Given the description of an element on the screen output the (x, y) to click on. 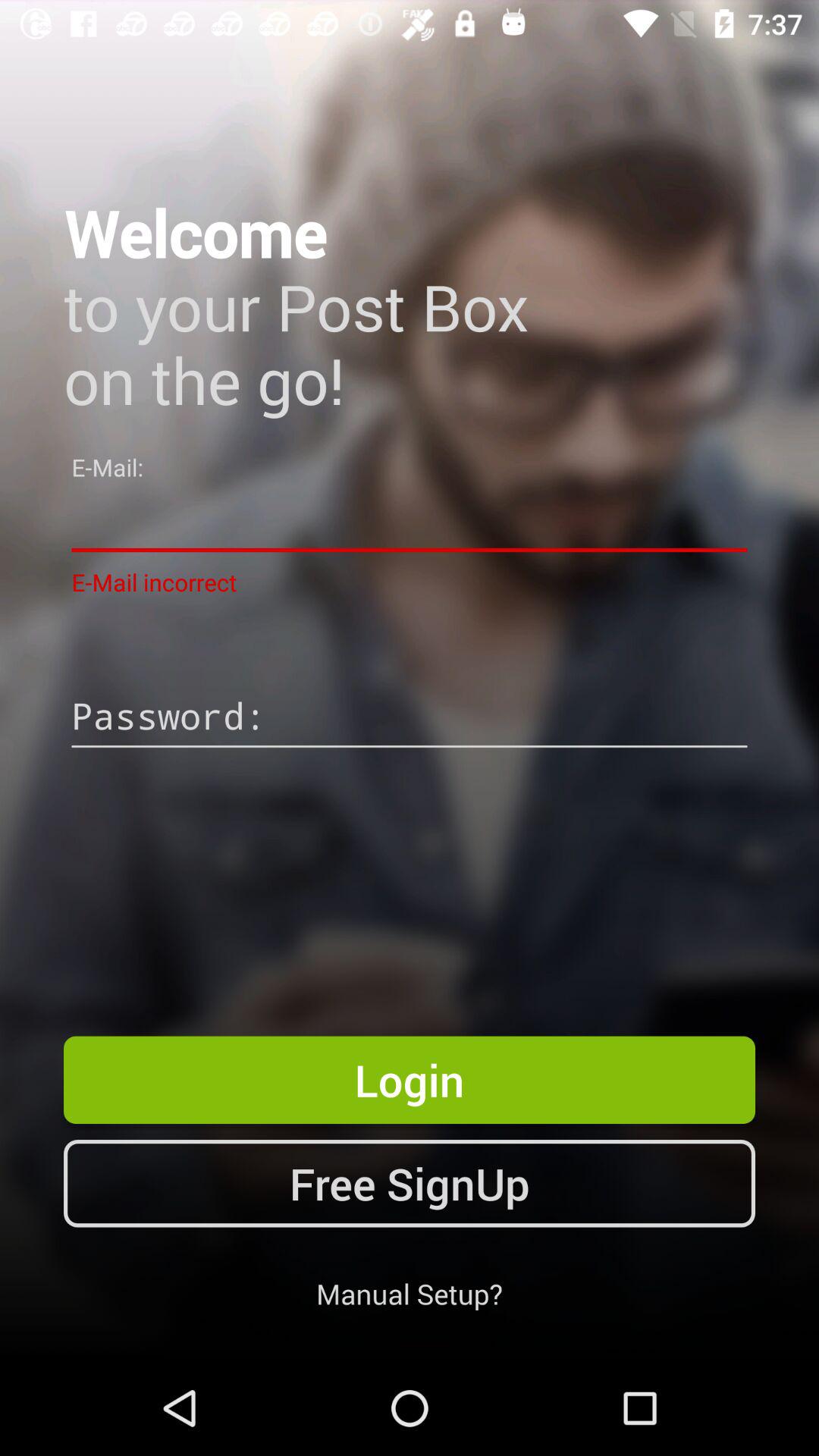
click the icon below the on the go! (409, 520)
